Given the description of an element on the screen output the (x, y) to click on. 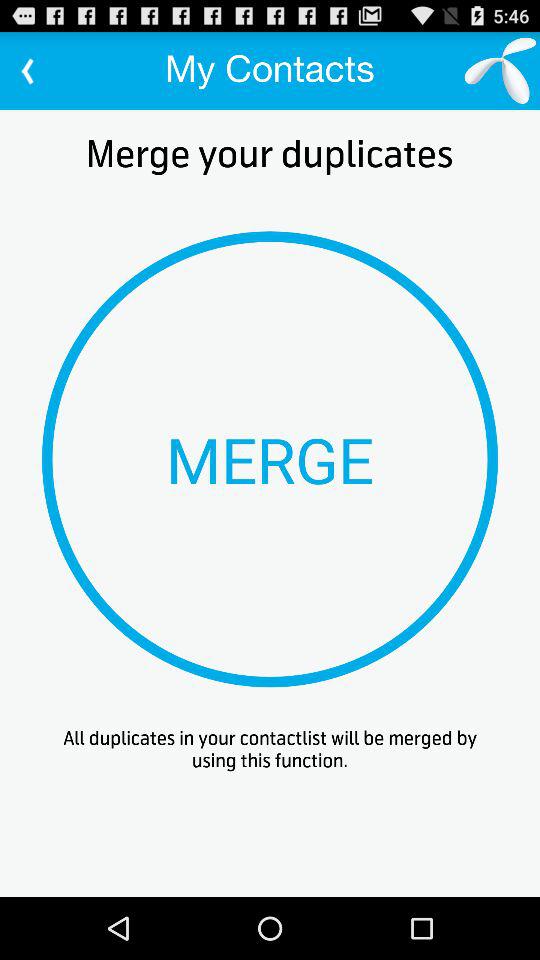
launch item above all duplicates in (269, 459)
